Given the description of an element on the screen output the (x, y) to click on. 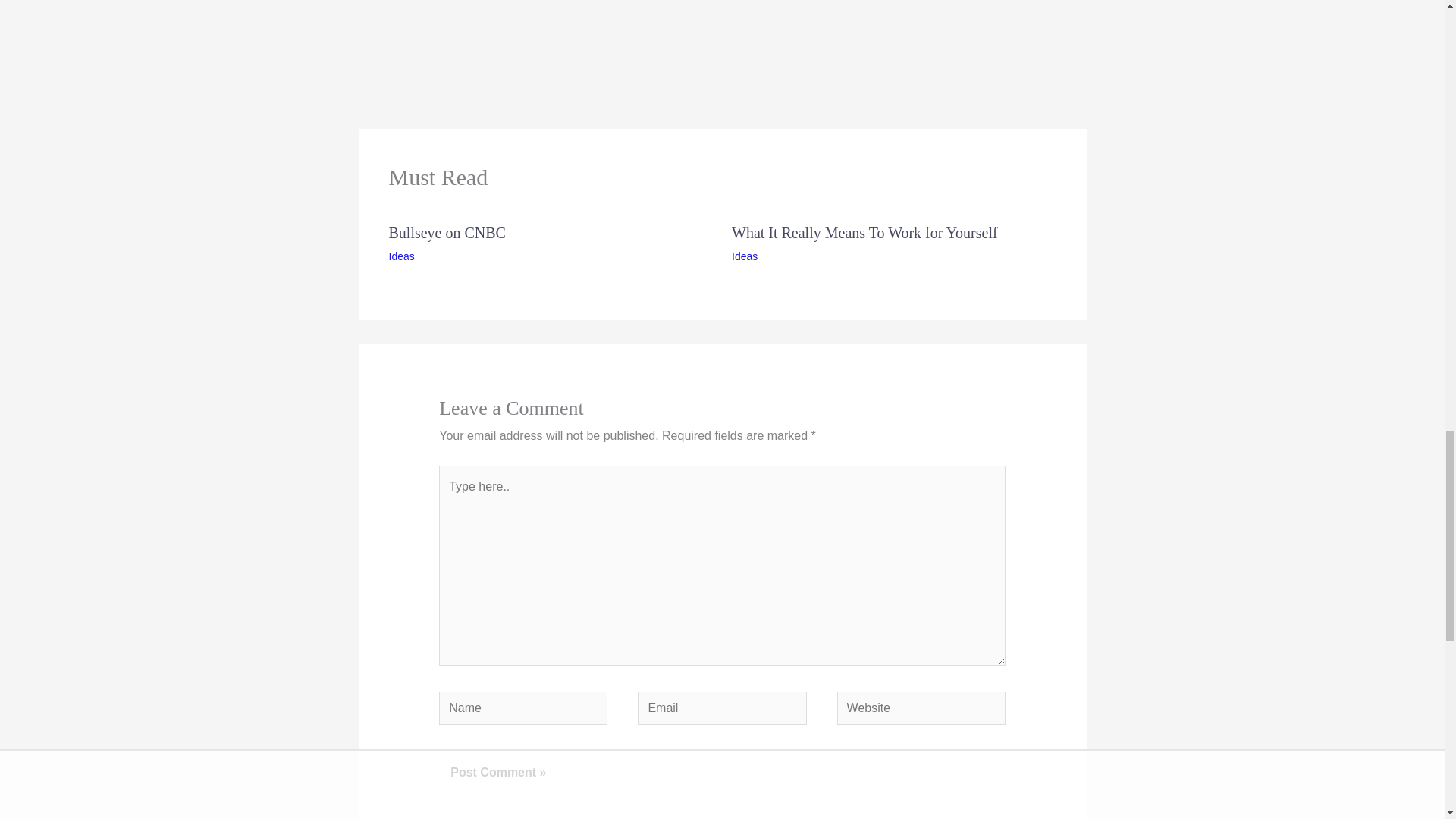
Ideas (744, 256)
Bullseye on CNBC (446, 232)
Ideas (400, 256)
What It Really Means To Work for Yourself (864, 232)
